Given the description of an element on the screen output the (x, y) to click on. 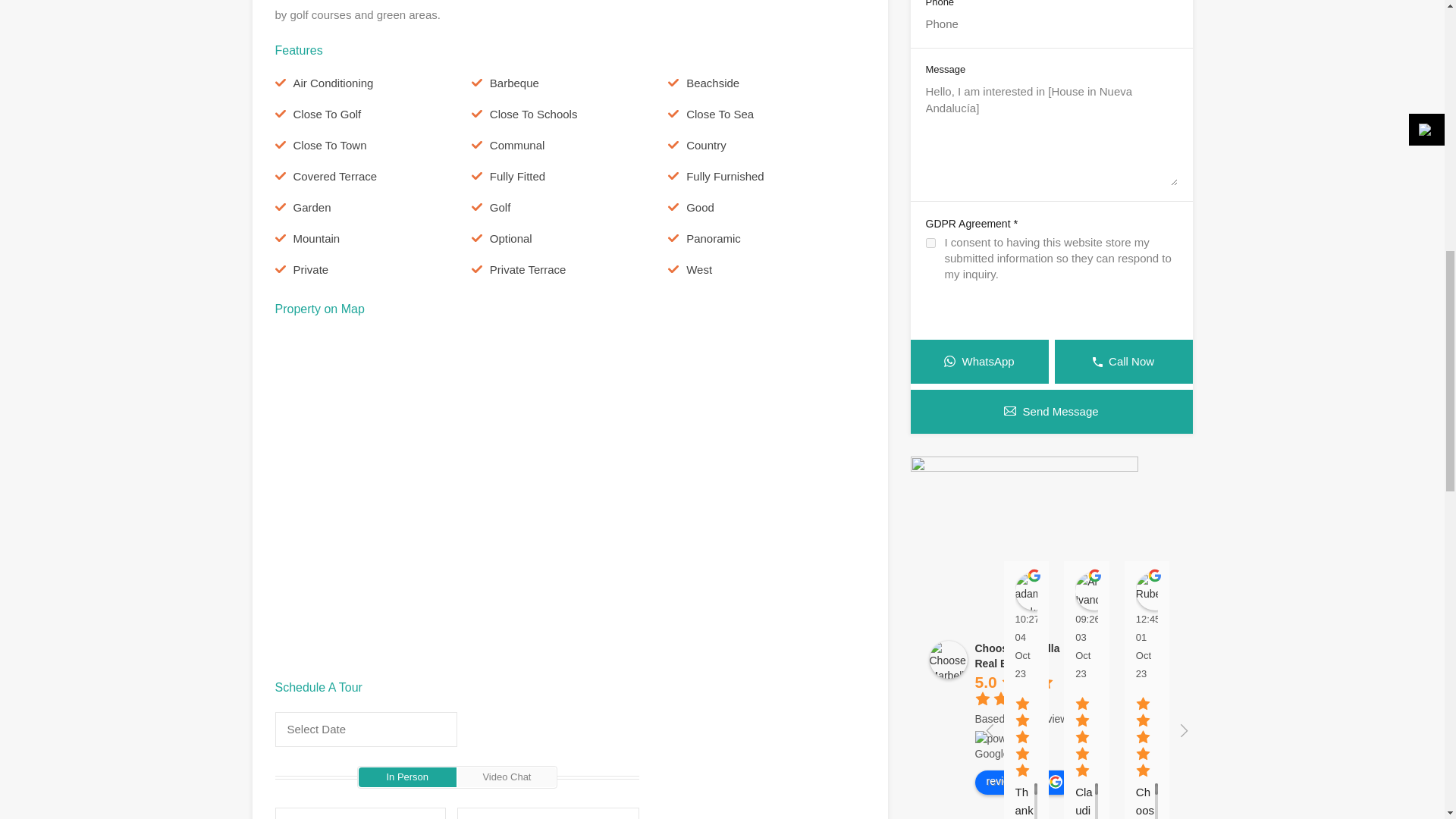
Select a suitable date. (366, 728)
Provide your name (360, 813)
powered by Google (1024, 746)
Choose Marbella Real Estate (949, 659)
